Given the description of an element on the screen output the (x, y) to click on. 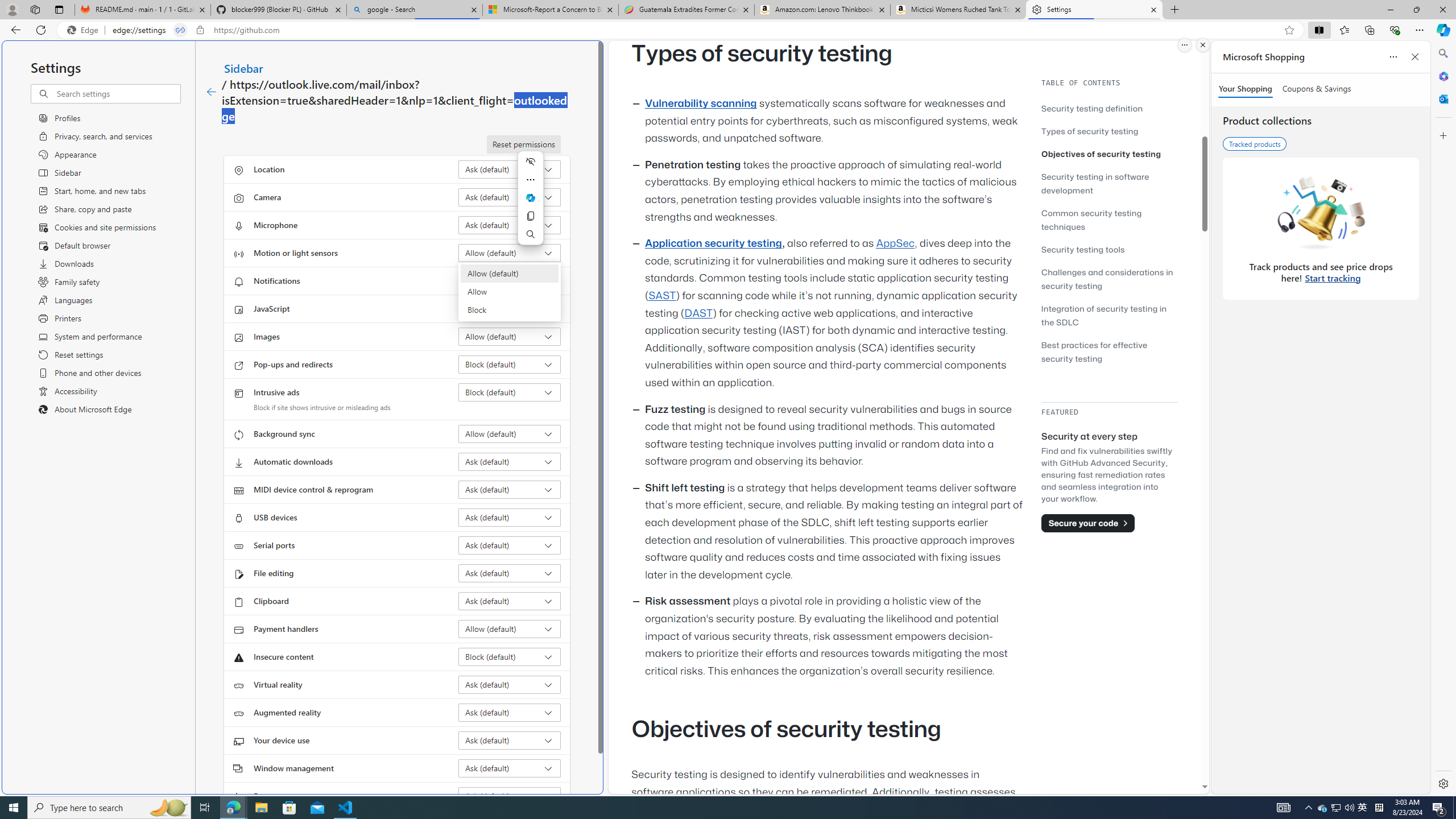
Copy (530, 216)
Fonts Ask (default) (509, 796)
MIDI device control & reprogram Ask (default) (509, 489)
Objectives of security testing (1101, 153)
Automatic downloads Ask (default) (509, 461)
Security testing in software development (1094, 182)
Add this page to favorites (Ctrl+D) (1289, 29)
Settings (1094, 9)
More options. (1183, 45)
Class: c01182 (210, 91)
Tabs in split screen (180, 29)
Edge (84, 29)
